Given the description of an element on the screen output the (x, y) to click on. 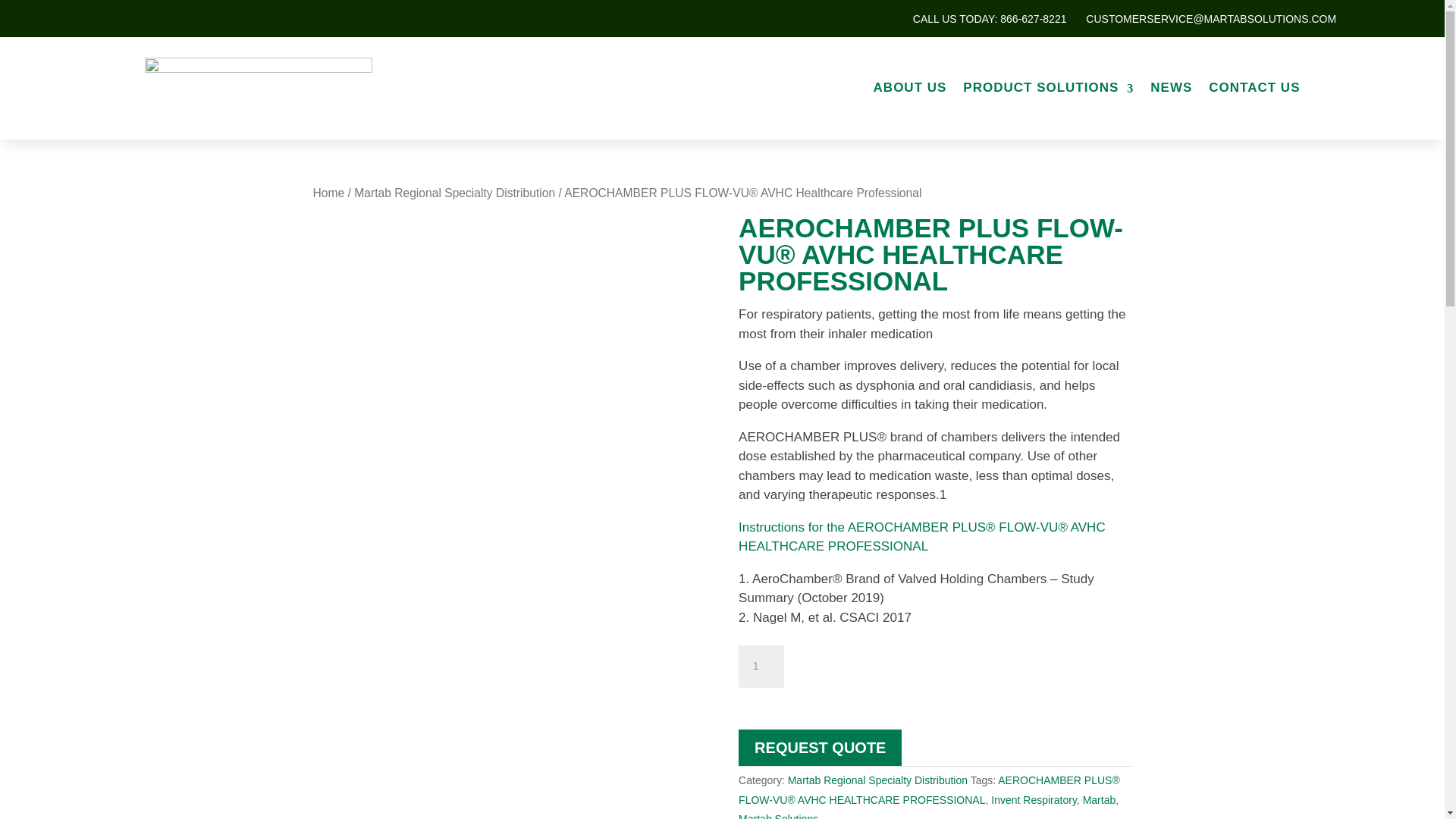
ABOUT US (910, 87)
Martab Regional Specialty Distribution (877, 779)
Martab Regional Specialty Distribution (453, 192)
PRODUCT SOLUTIONS (1048, 87)
Home (328, 192)
Martab Solutions (778, 816)
Martab (1099, 799)
CALL US TODAY: 866-627-8221  (991, 21)
Invent Respiratory (1034, 799)
1 (761, 666)
